Given the description of an element on the screen output the (x, y) to click on. 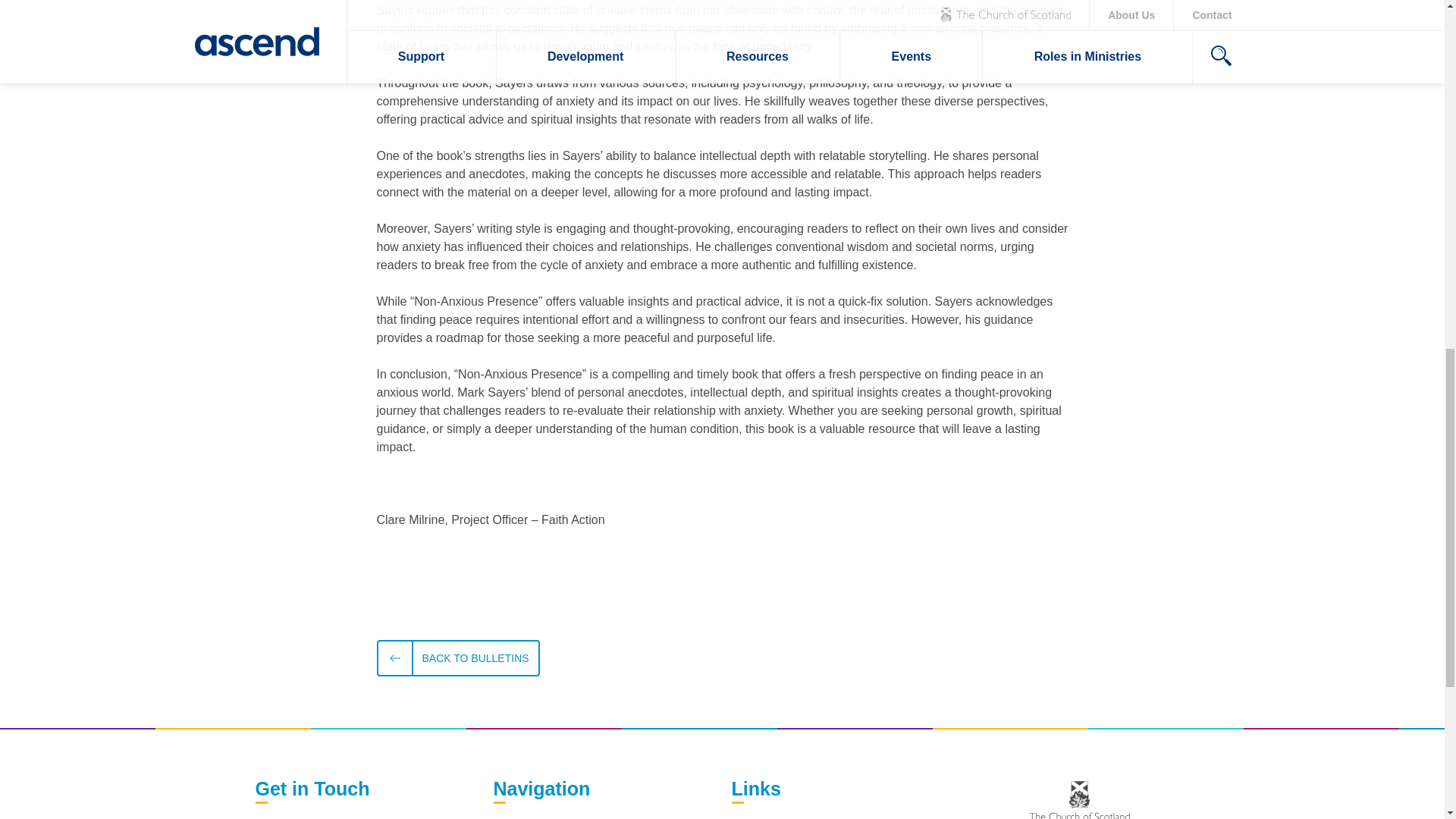
BACK TO BULLETINS (456, 657)
Church of Scotland (1079, 800)
